Given the description of an element on the screen output the (x, y) to click on. 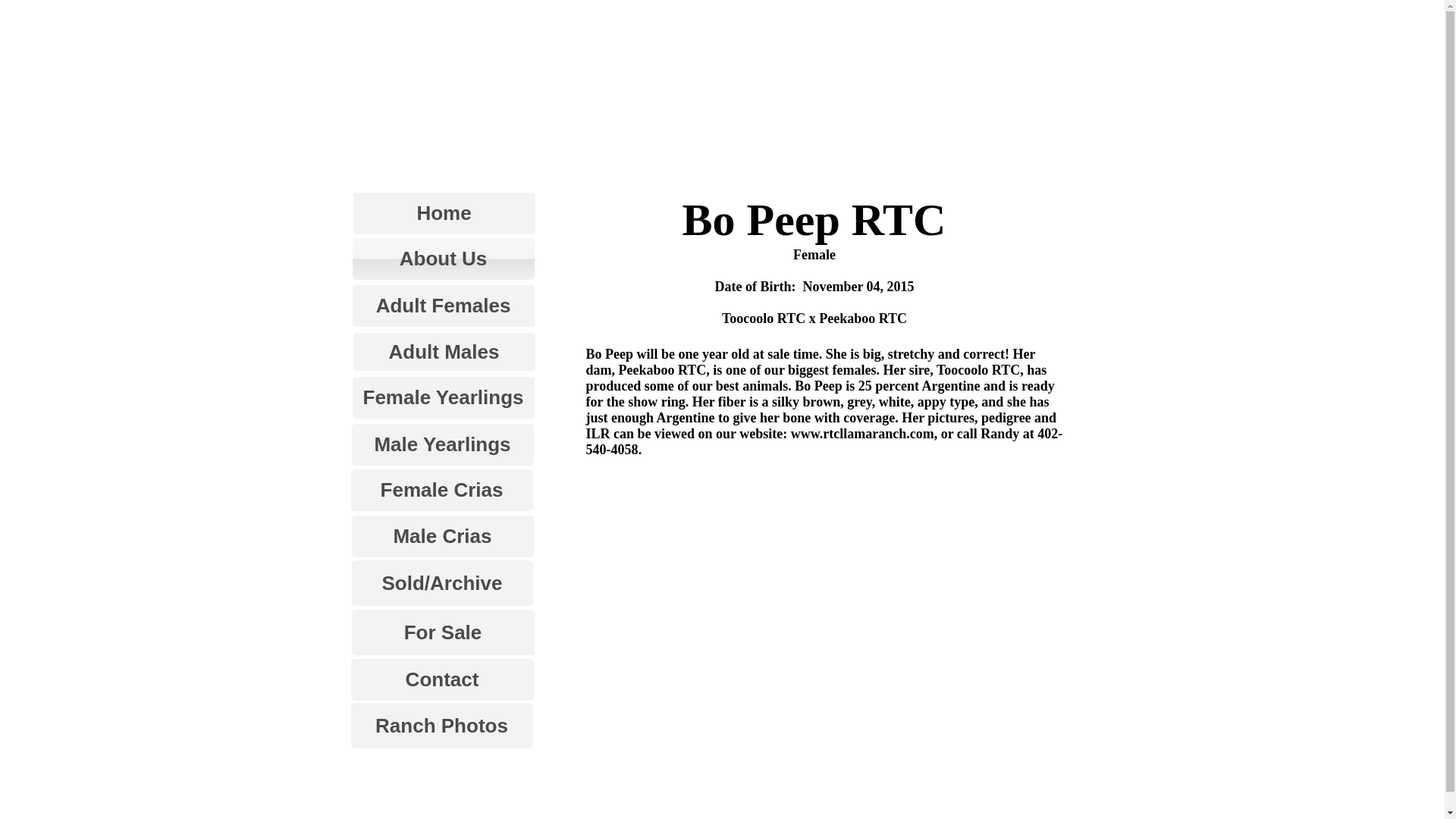
Ranch Photos (441, 725)
Adult Males (444, 351)
About Us (443, 259)
Male Yearlings (443, 445)
Adult Females (443, 305)
Female Yearlings (443, 397)
Home (444, 213)
For Sale (443, 632)
Male Crias (443, 536)
Contact (441, 680)
